Given the description of an element on the screen output the (x, y) to click on. 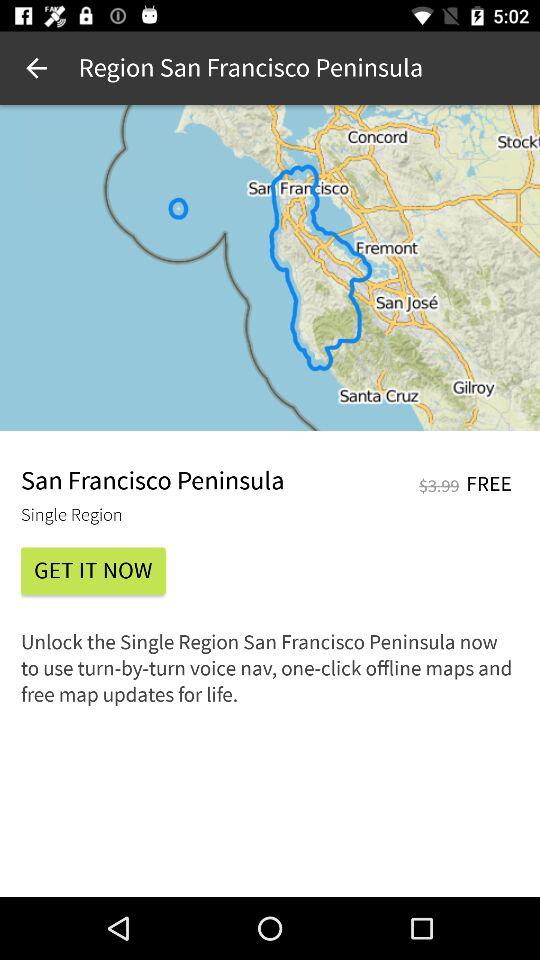
tap icon at the top left corner (36, 68)
